Given the description of an element on the screen output the (x, y) to click on. 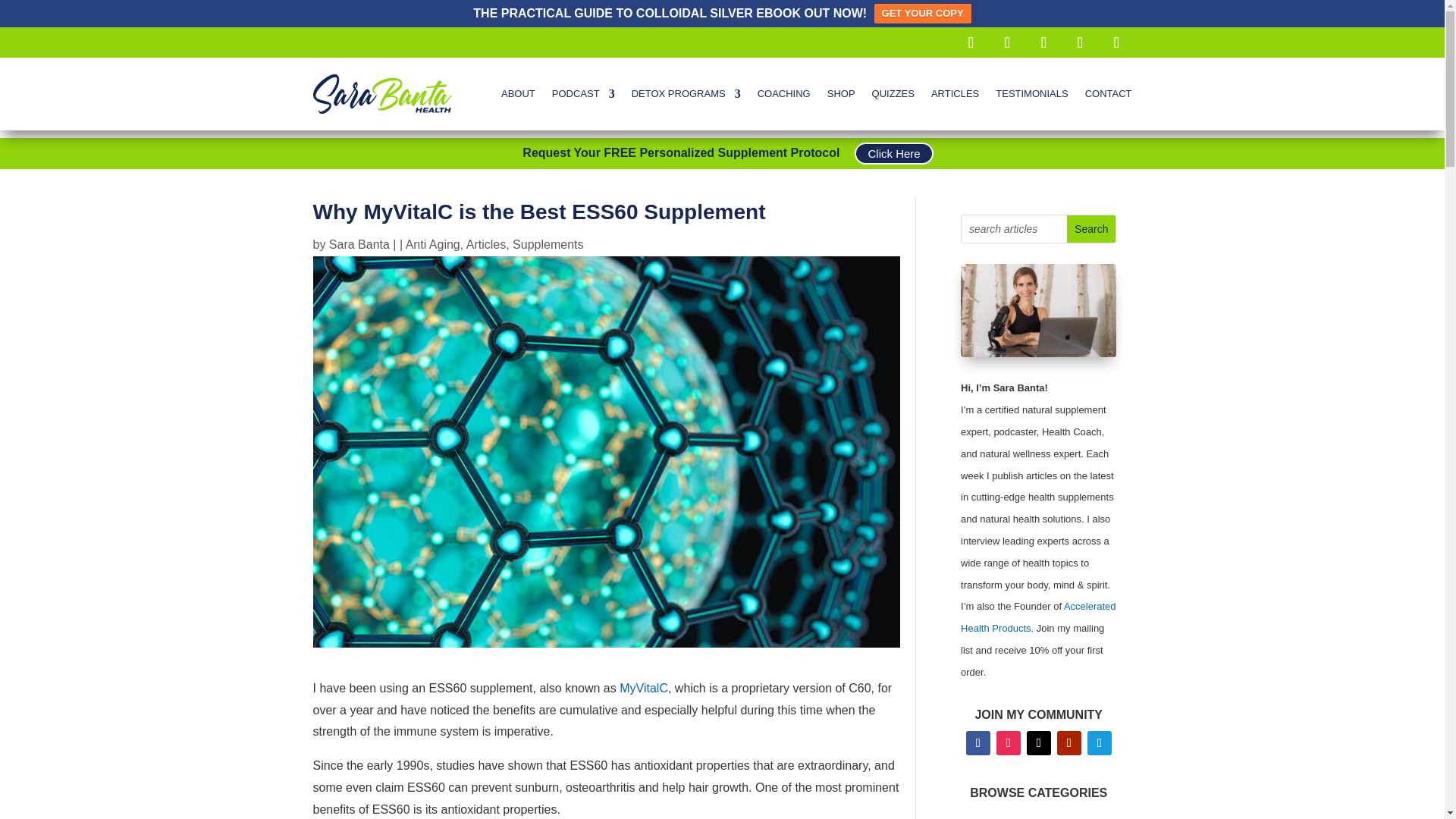
Search (1091, 228)
Follow on X (1115, 42)
accelerated health products (1038, 616)
TESTIMONIALS (1031, 93)
Follow on Facebook (970, 42)
GET YOUR COPY (923, 13)
COACHING (783, 93)
Follow on Youtube (1069, 743)
Search (1091, 228)
Follow on Instagram (1007, 743)
DETOX PROGRAMS (686, 93)
Follow on X (1038, 743)
Follow on Youtube (1042, 42)
Follow on Facebook (978, 743)
Click Here (893, 153)
